Given the description of an element on the screen output the (x, y) to click on. 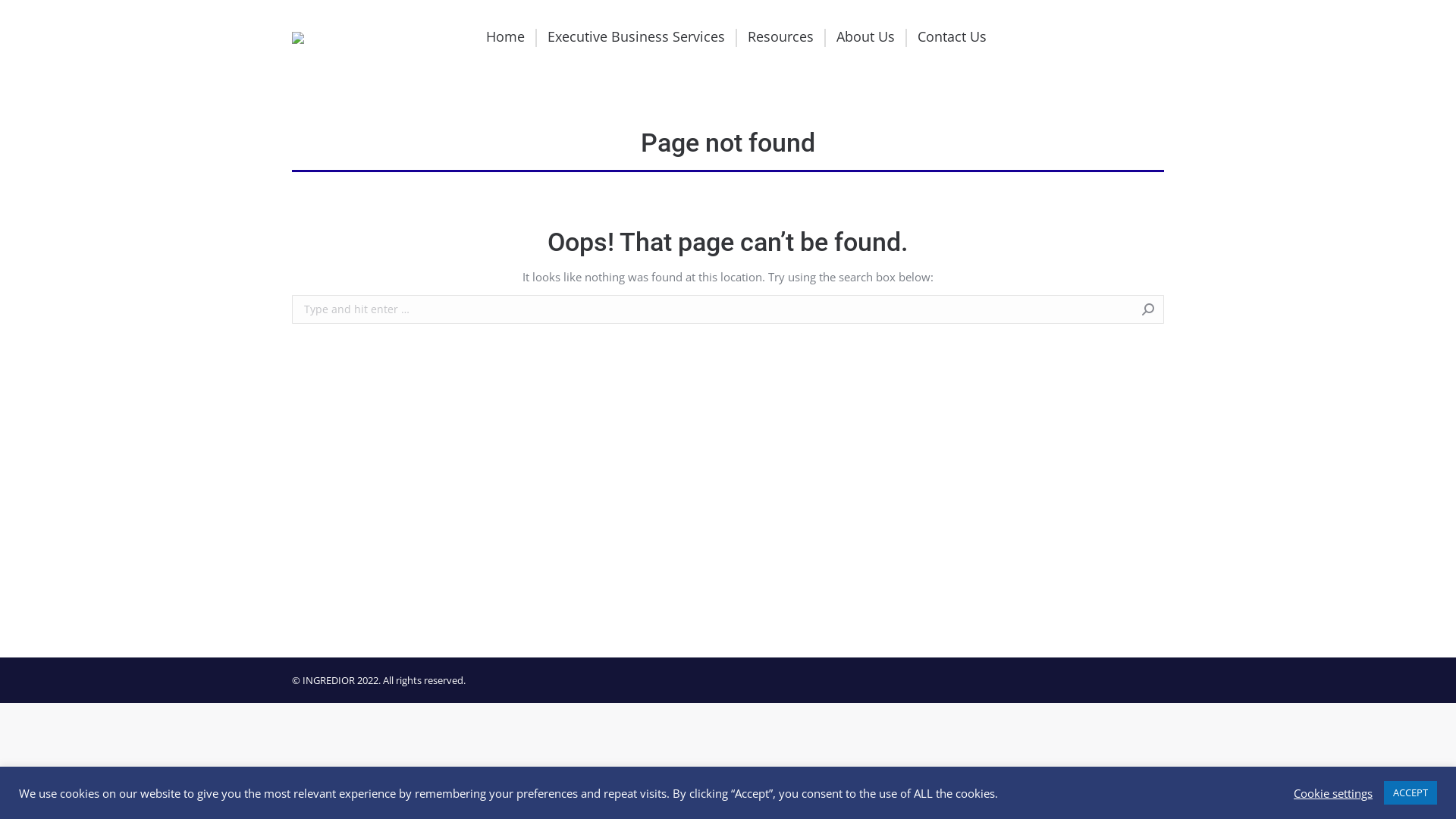
ACCEPT Element type: text (1410, 792)
About Us Element type: text (864, 37)
Resources Element type: text (780, 37)
Executive Business Services Element type: text (635, 37)
Go! Element type: text (1187, 310)
Contact Us Element type: text (951, 37)
Cookie settings Element type: text (1332, 792)
Home Element type: text (504, 37)
